Given the description of an element on the screen output the (x, y) to click on. 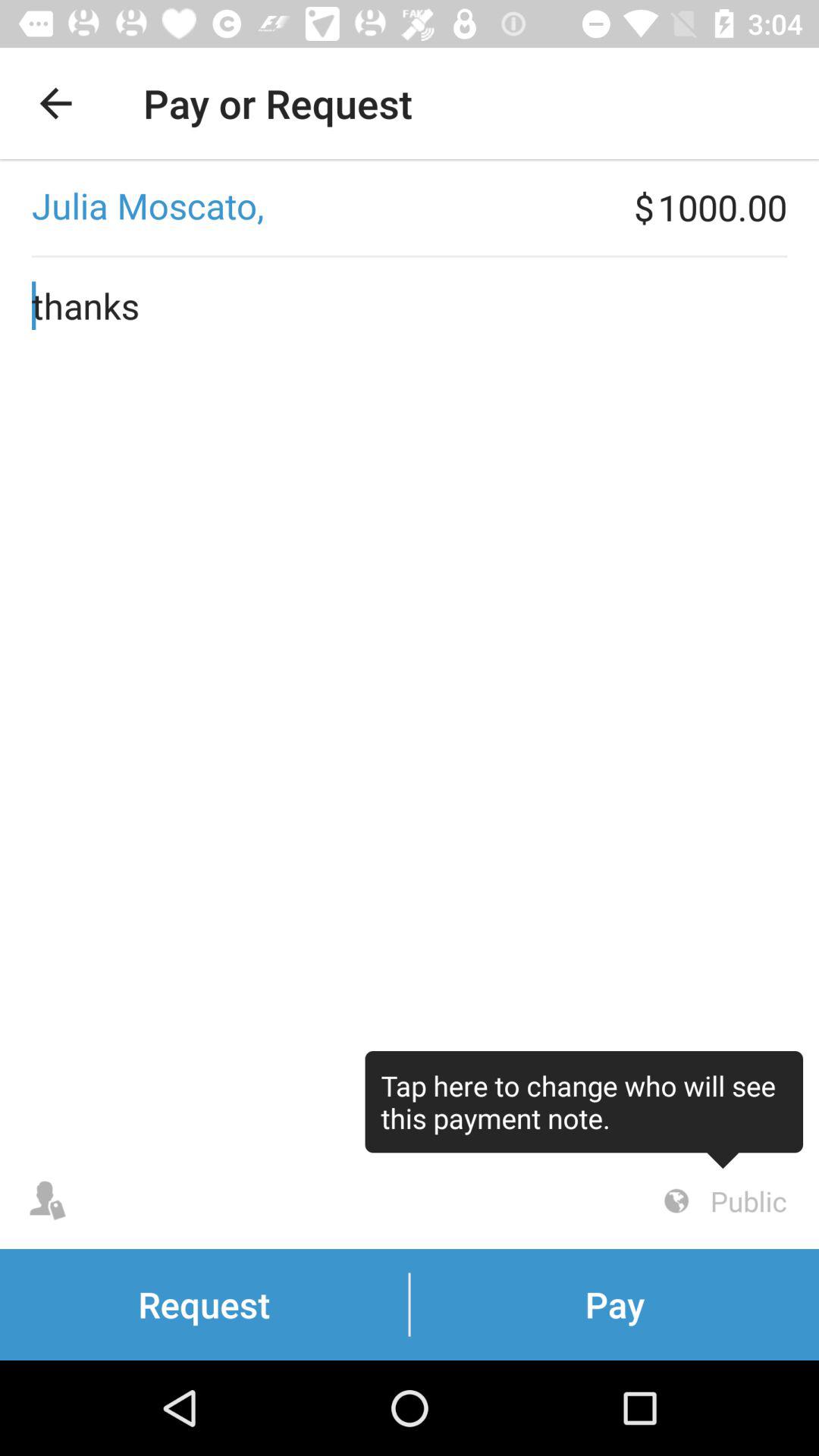
open icon above the request icon (584, 1109)
